Given the description of an element on the screen output the (x, y) to click on. 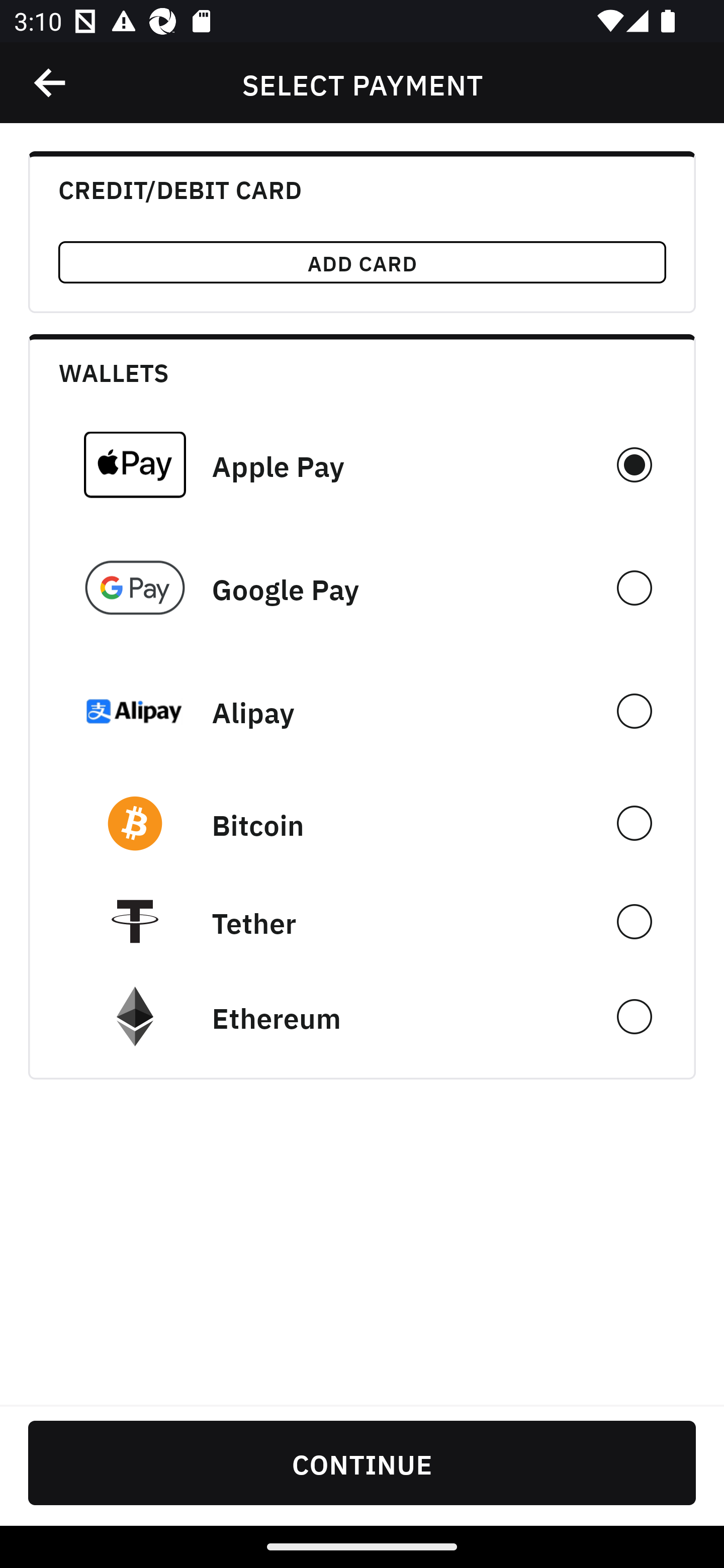
 (50, 83)
ADD CARD (362, 262)
Apple Pay (362, 464)
Google Pay (362, 587)
Alipay (362, 711)
󰠓 Bitcoin (362, 823)
Tether (362, 921)
Ethereum (362, 1016)
CONTINUE (361, 1462)
